Given the description of an element on the screen output the (x, y) to click on. 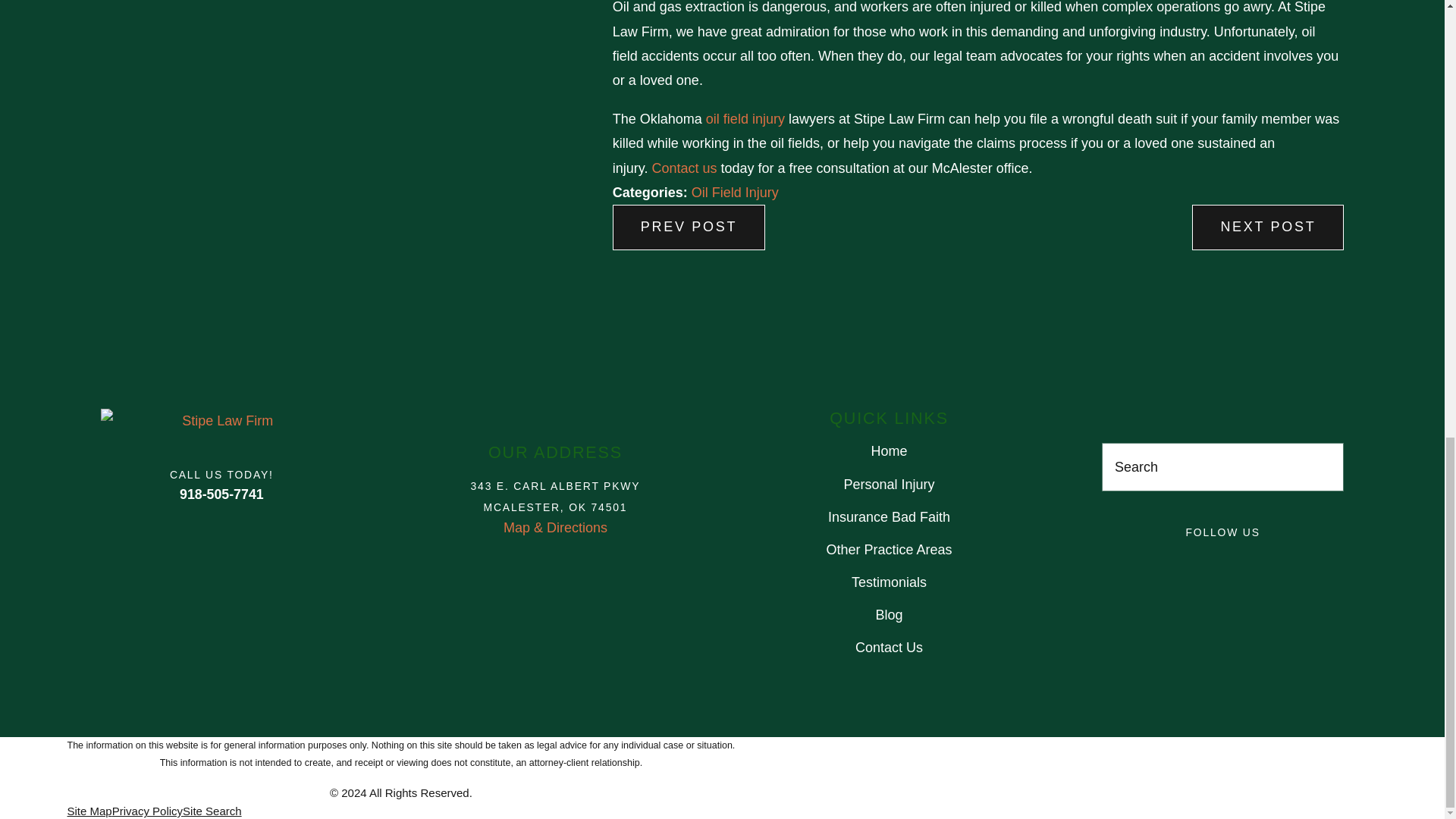
Search Our Site (1323, 467)
Home (221, 420)
Facebook (1154, 562)
Google Business Profile (1111, 562)
